Given the description of an element on the screen output the (x, y) to click on. 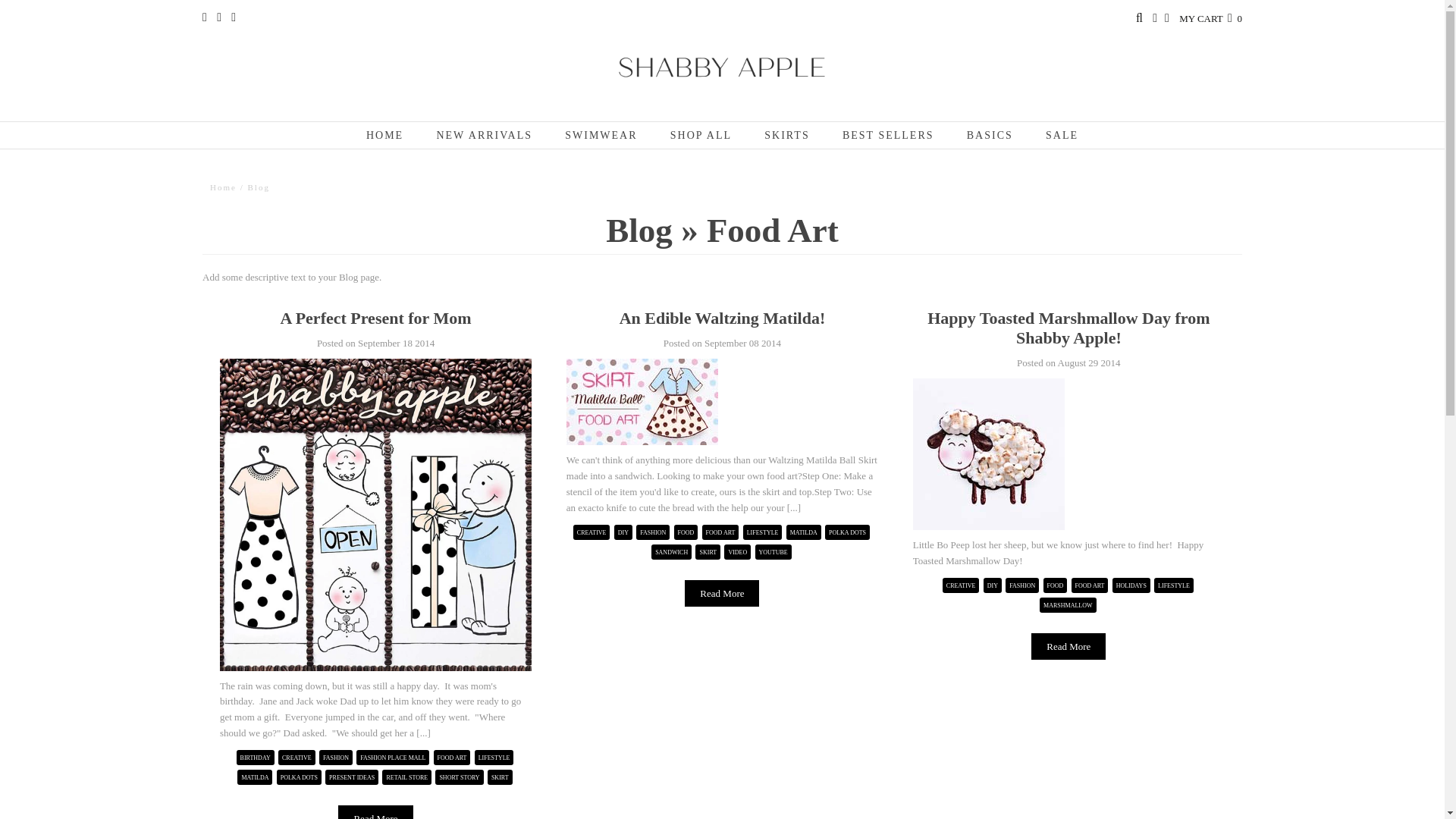
SALE (1061, 135)
SKIRT (500, 777)
A Perfect Present for Mom (374, 317)
PRESENT IDEAS (351, 777)
FASHION (652, 532)
CREATIVE (296, 757)
Read More (374, 812)
SKIRTS (786, 135)
SHOP ALL (700, 135)
POLKA DOTS (299, 777)
RETAIL STORE (406, 777)
MATILDA (254, 777)
BASICS (989, 135)
SWIMWEAR (601, 135)
NEW ARRIVALS (483, 135)
